Given the description of an element on the screen output the (x, y) to click on. 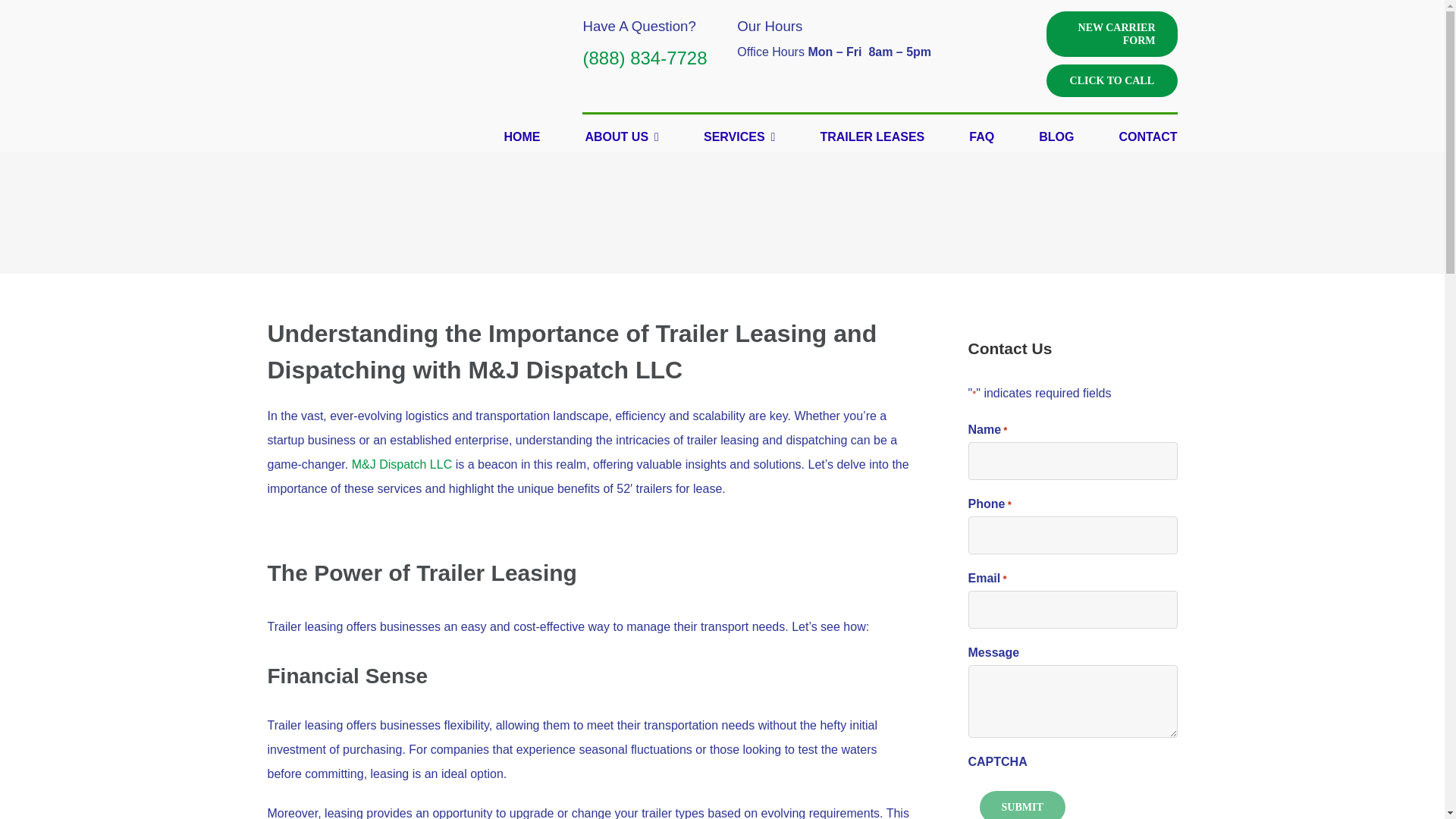
CLICK TO CALL (1111, 80)
TRAILER LEASES (871, 137)
SERVICES (738, 137)
ABOUT US (622, 137)
Submit (1022, 805)
Submit (1022, 805)
BLOG (1056, 137)
CONTACT (1148, 137)
NEW CARRIER FORM (1111, 33)
FAQ (981, 137)
